Given the description of an element on the screen output the (x, y) to click on. 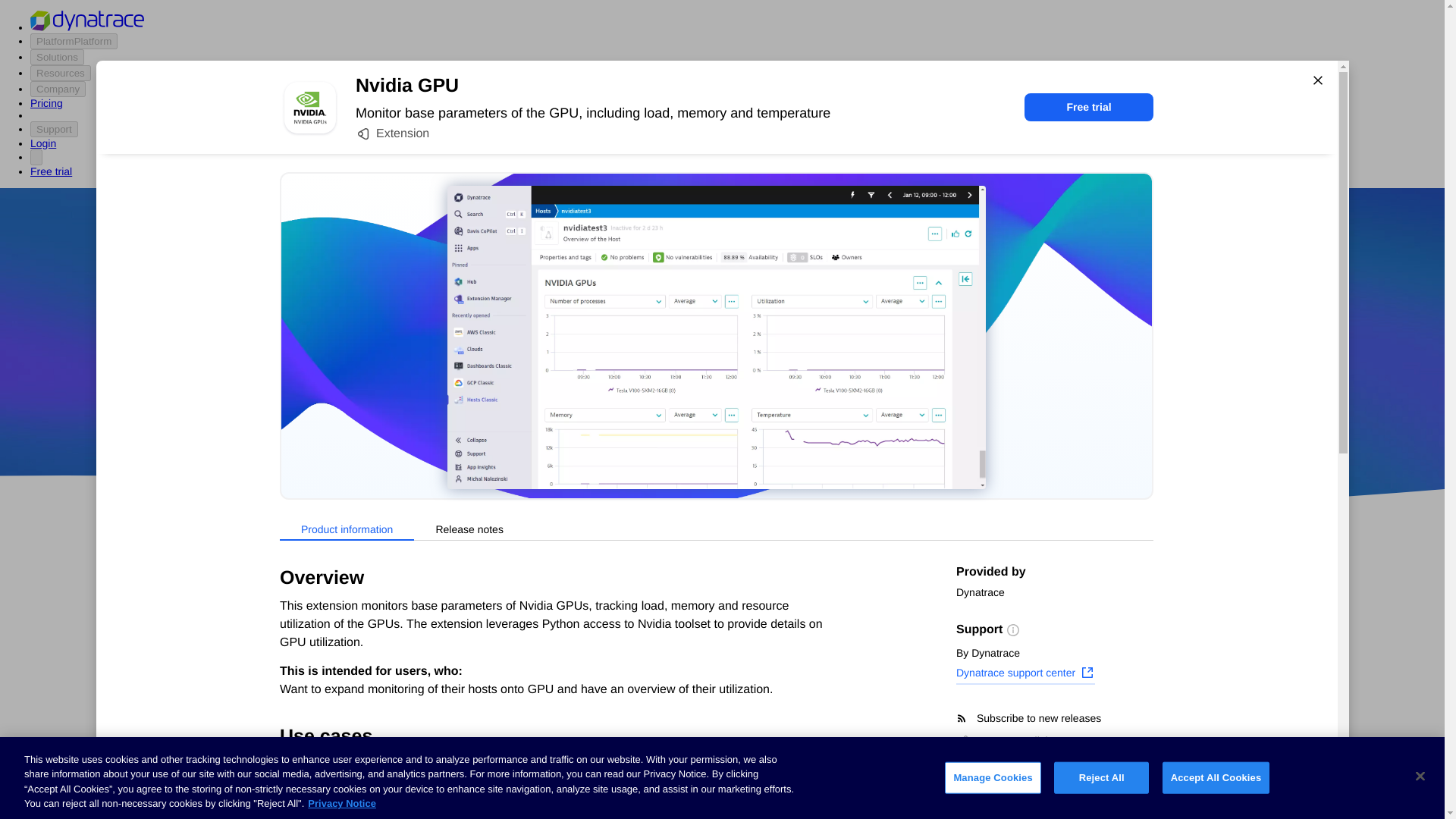
AWS (637, 418)
 artificial-intelligence machine-learning (607, 778)
Subscribe to new releases (1054, 718)
Wipro (840, 375)
Open source (903, 418)
Wipro (840, 375)
Certified Partners (309, 612)
Kubernetes (295, 755)
Hub home (291, 583)
Infrastructure Observability (335, 809)
 Envoy Istio Kubernetes Service Mesh (841, 778)
Build your own app (314, 669)
Dynatrace support center (1025, 674)
Google Cloud (751, 418)
Free trial (1089, 107)
